Given the description of an element on the screen output the (x, y) to click on. 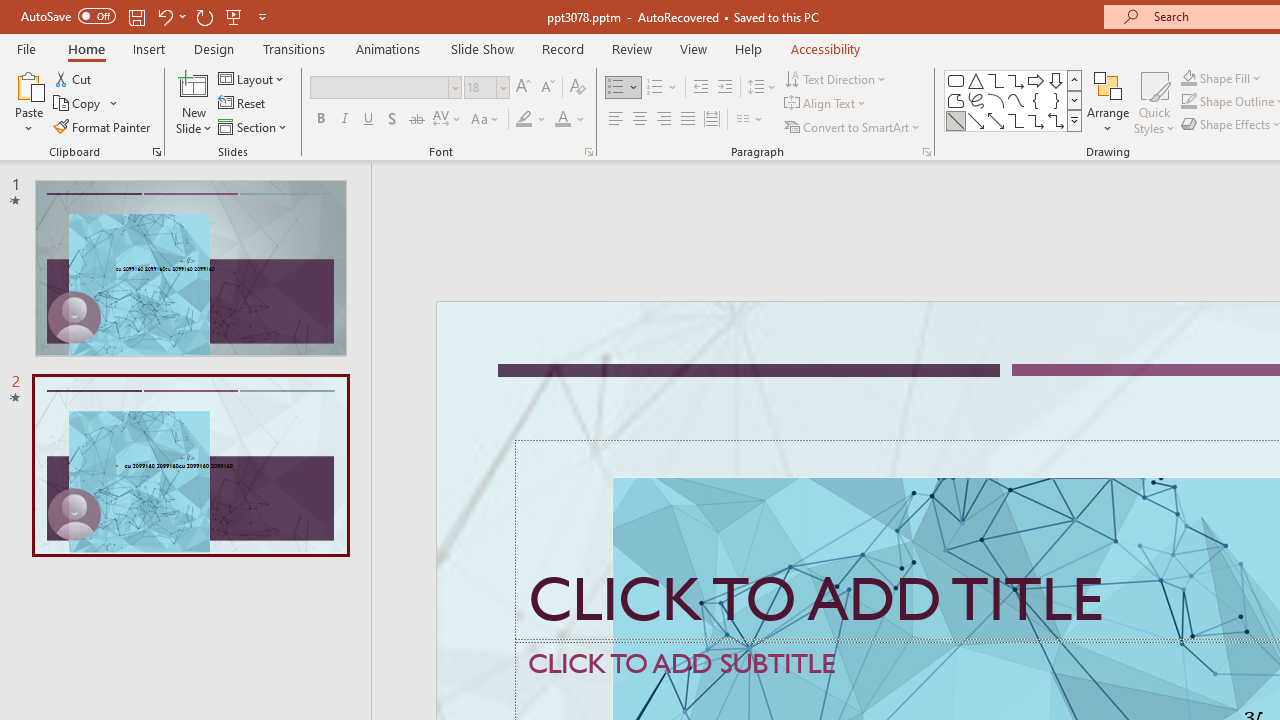
Line Arrow: Double (995, 120)
Shape Outline Green, Accent 1 (1188, 101)
